Given the description of an element on the screen output the (x, y) to click on. 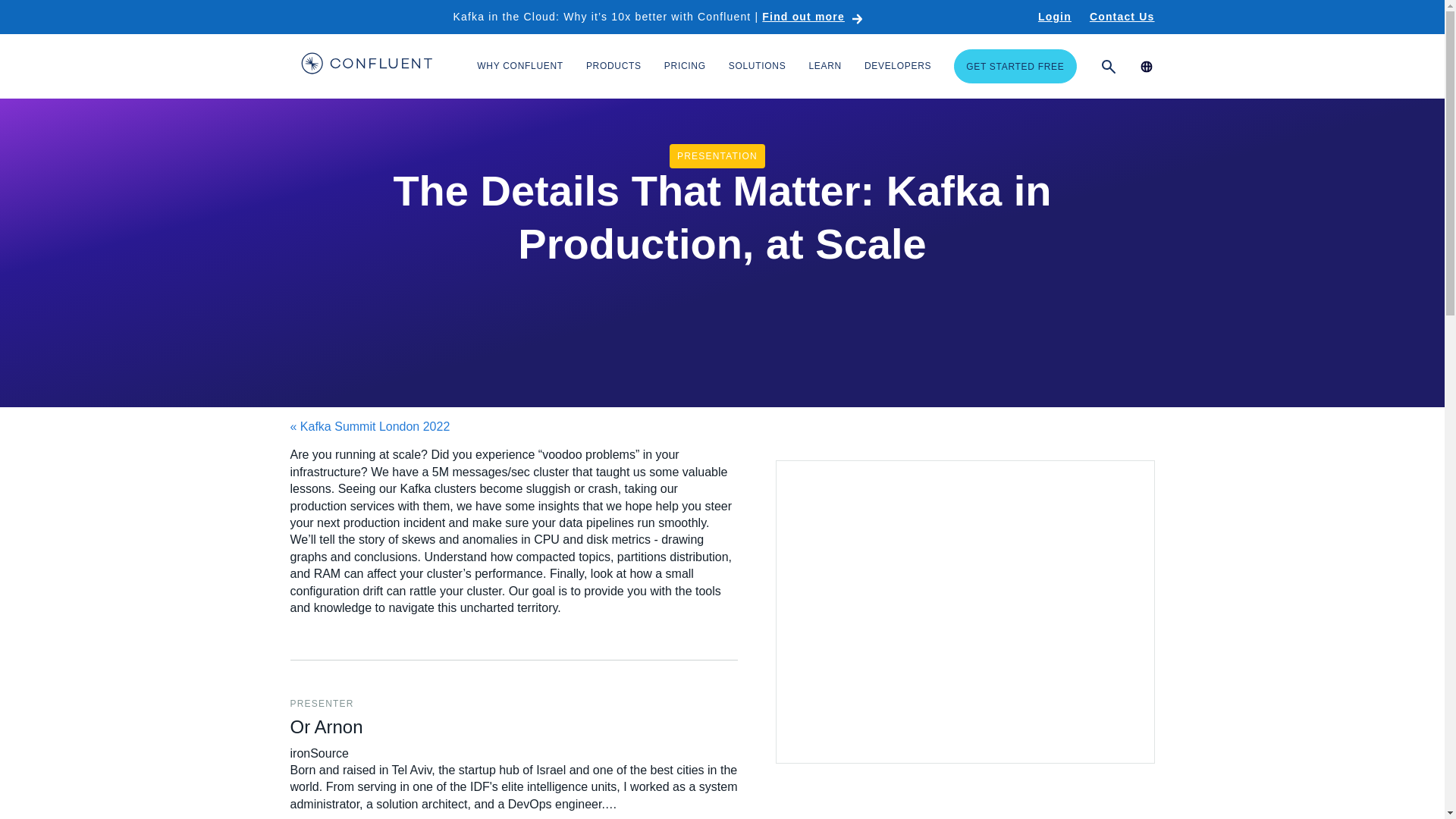
Presentation slide deck (964, 611)
Login (1054, 16)
Contact Us (1121, 16)
Confluent (365, 65)
Find out more (812, 16)
